Given the description of an element on the screen output the (x, y) to click on. 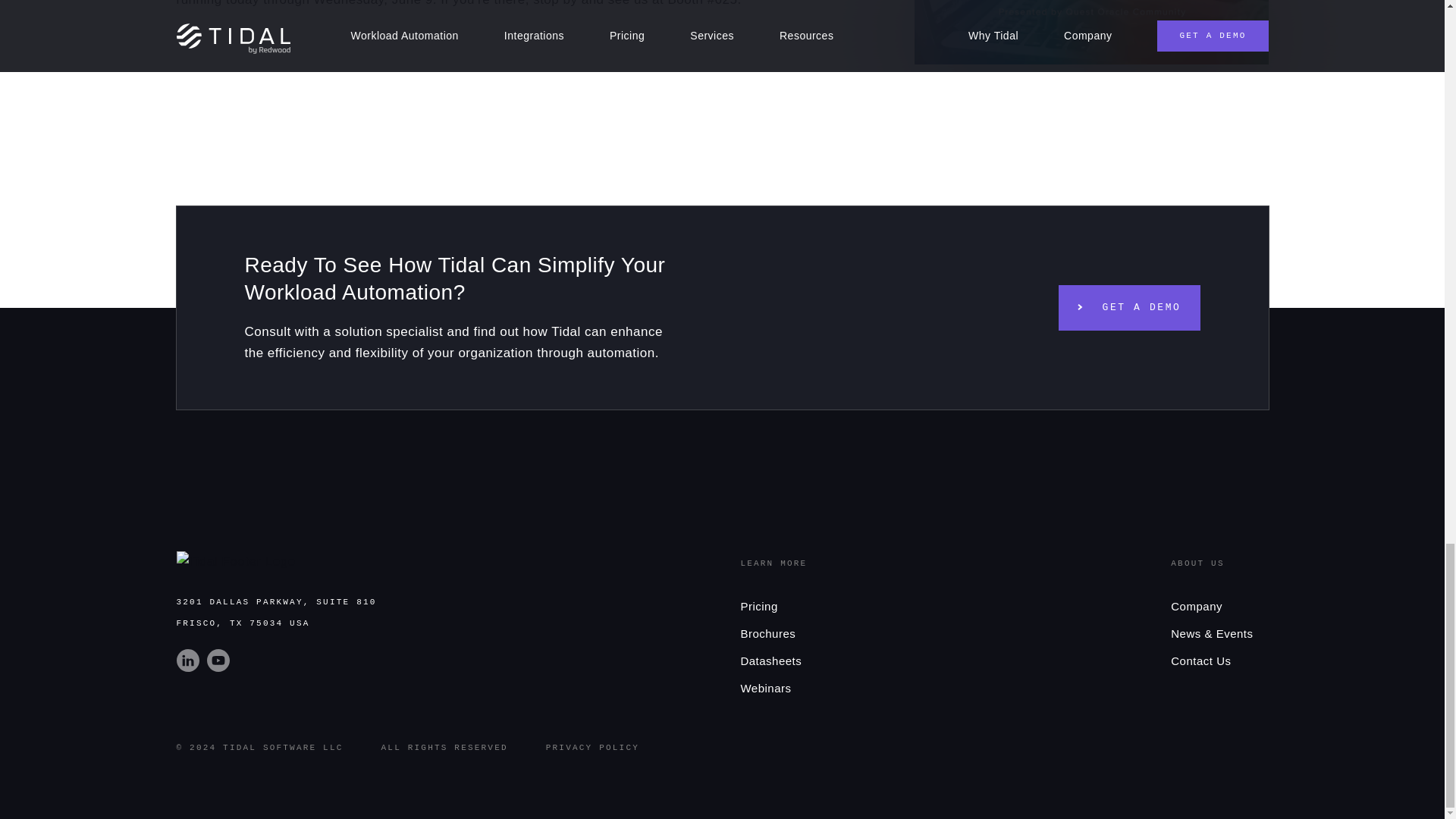
Linkedin Social Link (191, 667)
Youtube Social Link (219, 667)
Google Maps Link (275, 612)
